Given the description of an element on the screen output the (x, y) to click on. 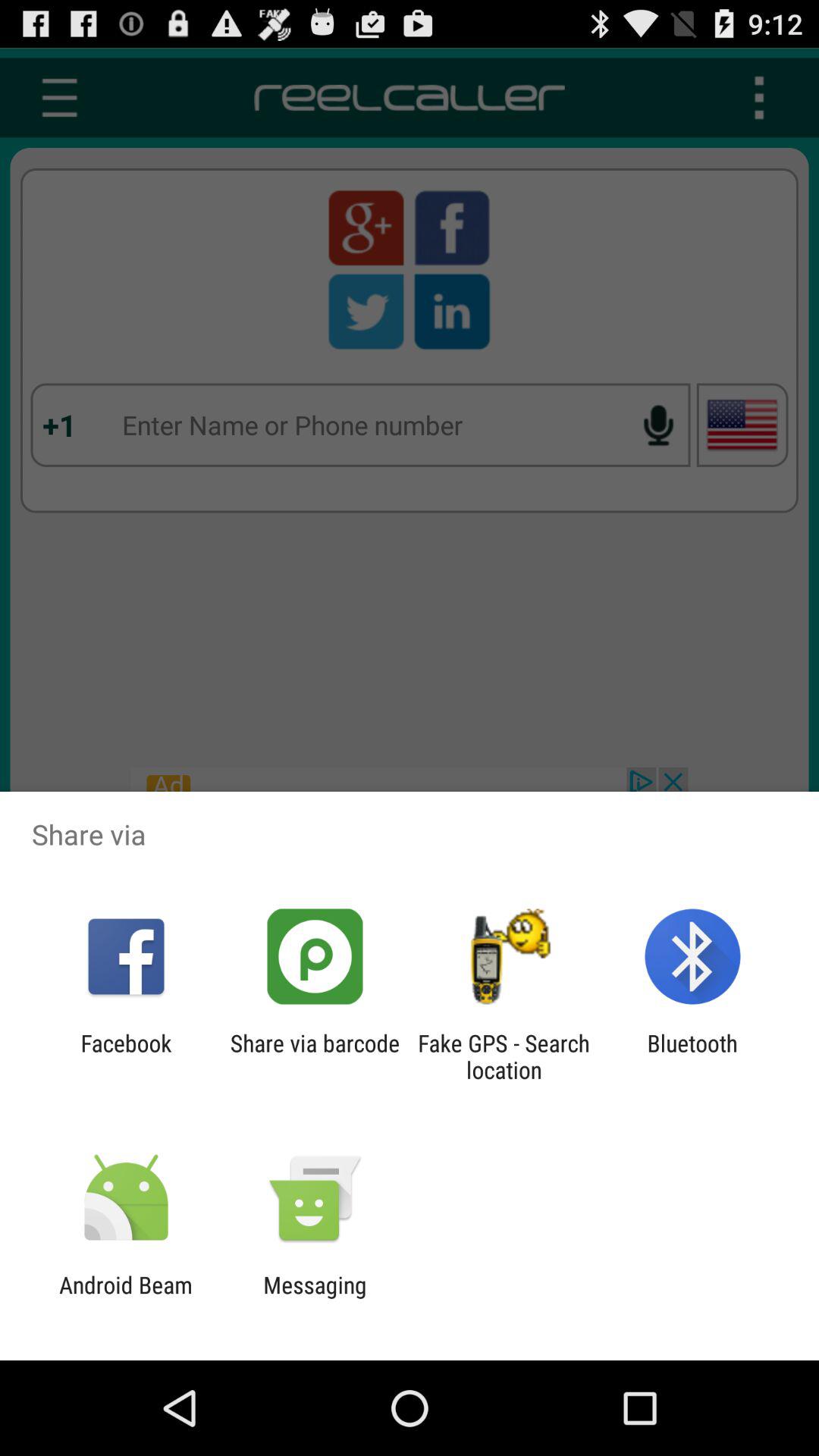
choose the icon next to fake gps search (692, 1056)
